Given the description of an element on the screen output the (x, y) to click on. 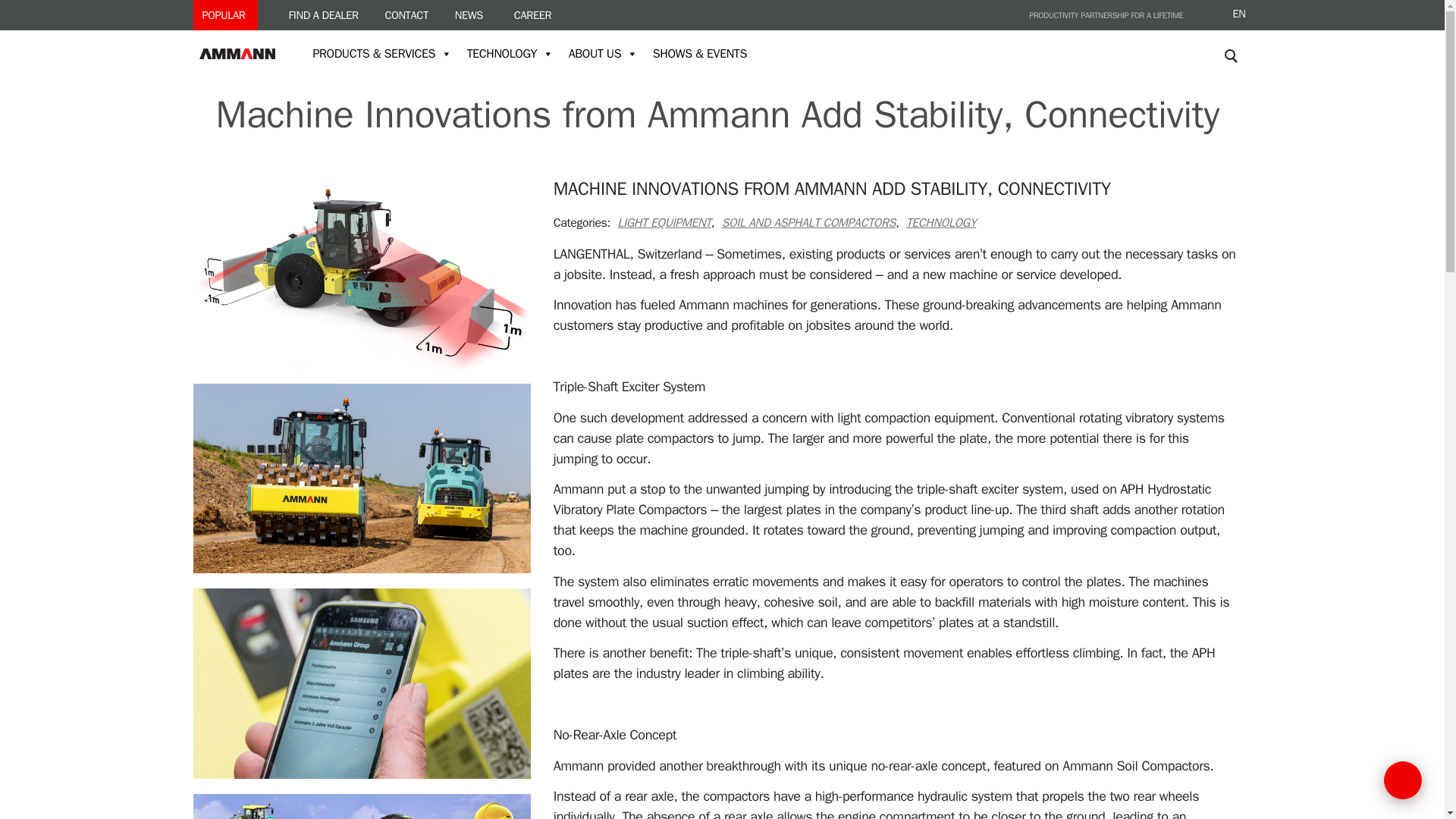
CONTACT (406, 14)
EN (1233, 14)
FIND A DEALER (320, 14)
CAREER (529, 14)
Ammann Group (243, 53)
NEWS (468, 14)
Search (1232, 84)
